Given the description of an element on the screen output the (x, y) to click on. 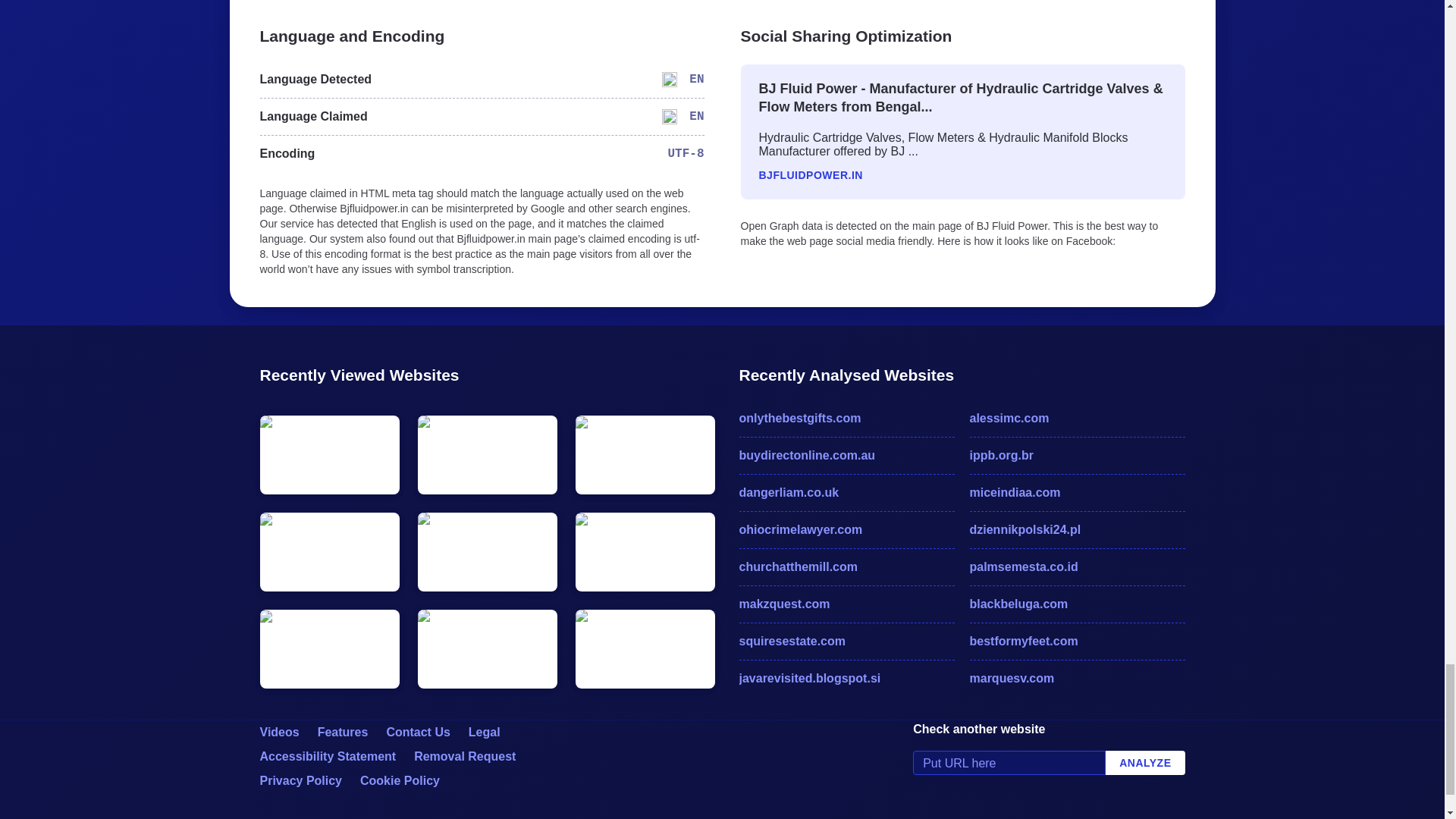
miceindiaa.com (1077, 493)
Features (342, 731)
onlythebestgifts.com (845, 418)
Screencasts: video tutorials and guides (278, 731)
Contact Us (417, 731)
makzquest.com (845, 604)
dangerliam.co.uk (845, 493)
Videos (278, 731)
dziennikpolski24.pl (1077, 529)
squiresestate.com (845, 641)
churchatthemill.com (845, 566)
marquesv.com (1077, 678)
javarevisited.blogspot.si (845, 678)
bestformyfeet.com (1077, 641)
